Given the description of an element on the screen output the (x, y) to click on. 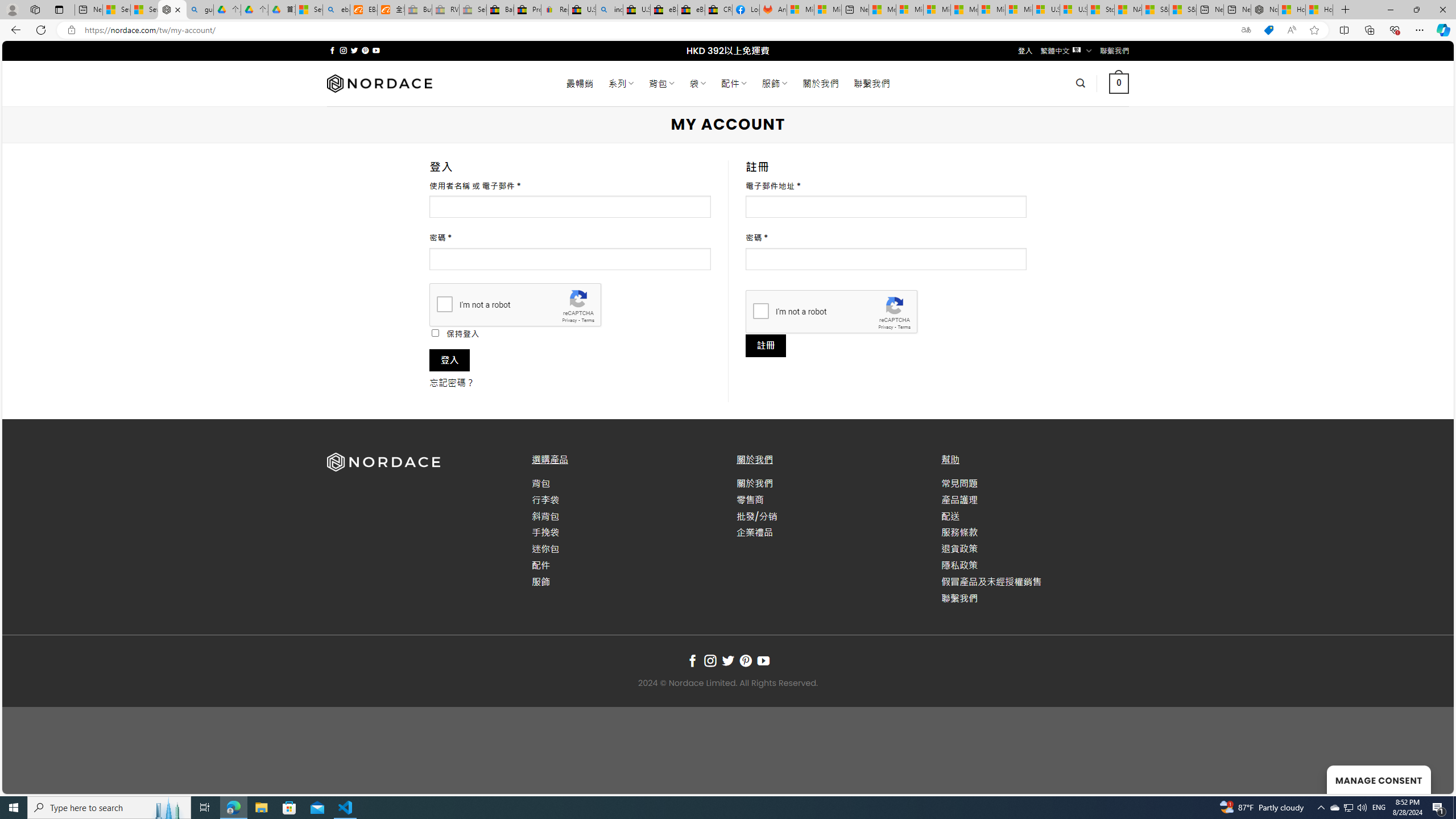
Go to top (1430, 777)
Buy Auto Parts & Accessories | eBay - Sleeping (418, 9)
How to Use a Monitor With Your Closed Laptop (1319, 9)
